Given the description of an element on the screen output the (x, y) to click on. 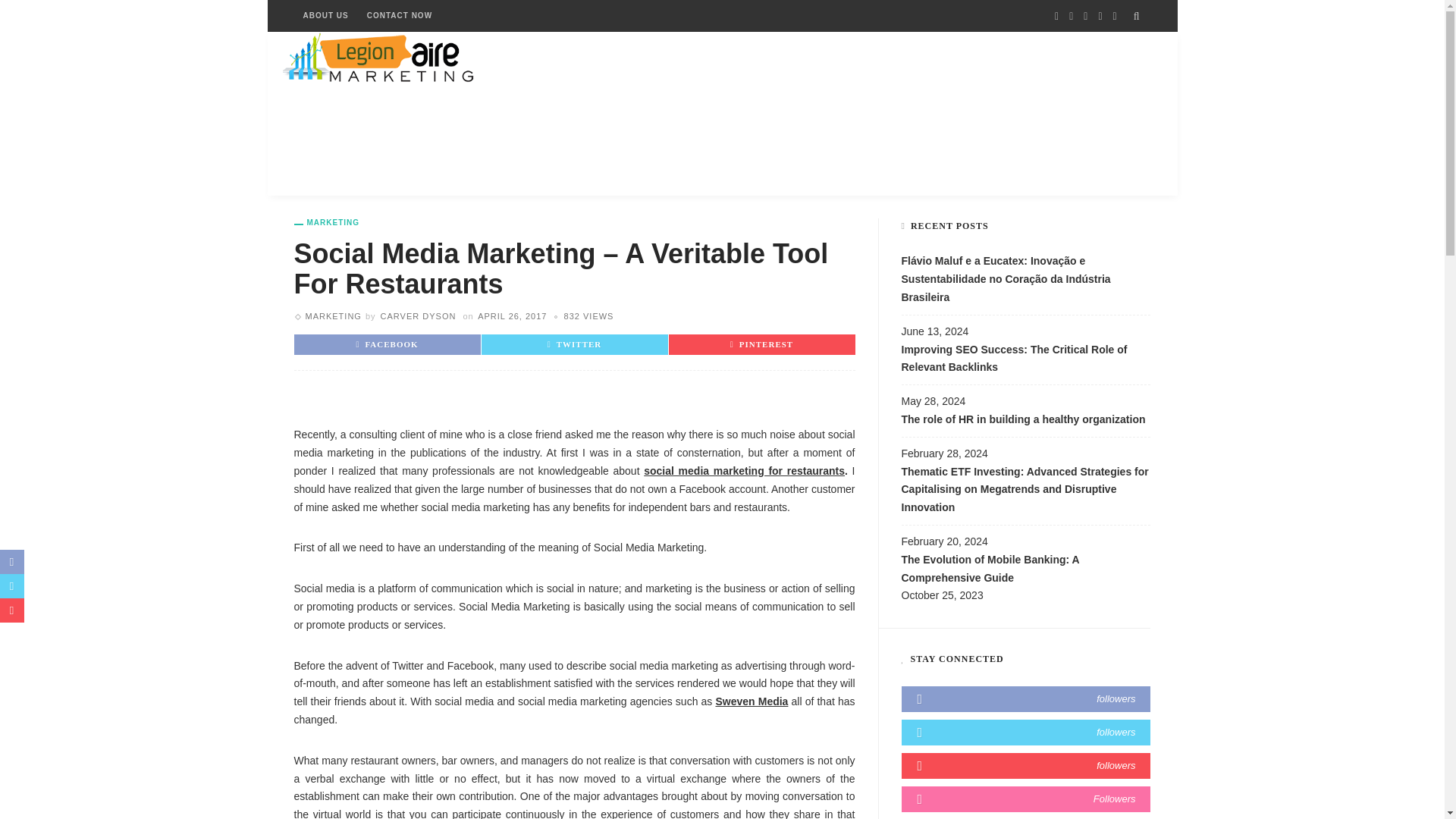
Marketing (326, 222)
BUSINESS (430, 113)
ABOUT US (326, 15)
834 VIEWS (589, 316)
BUSINESS EXPERTS (539, 113)
Marketing (332, 316)
ADVERTISING (335, 113)
CARVER DYSON (418, 316)
CONTACT NOW (399, 15)
PINTEREST (761, 343)
